Given the description of an element on the screen output the (x, y) to click on. 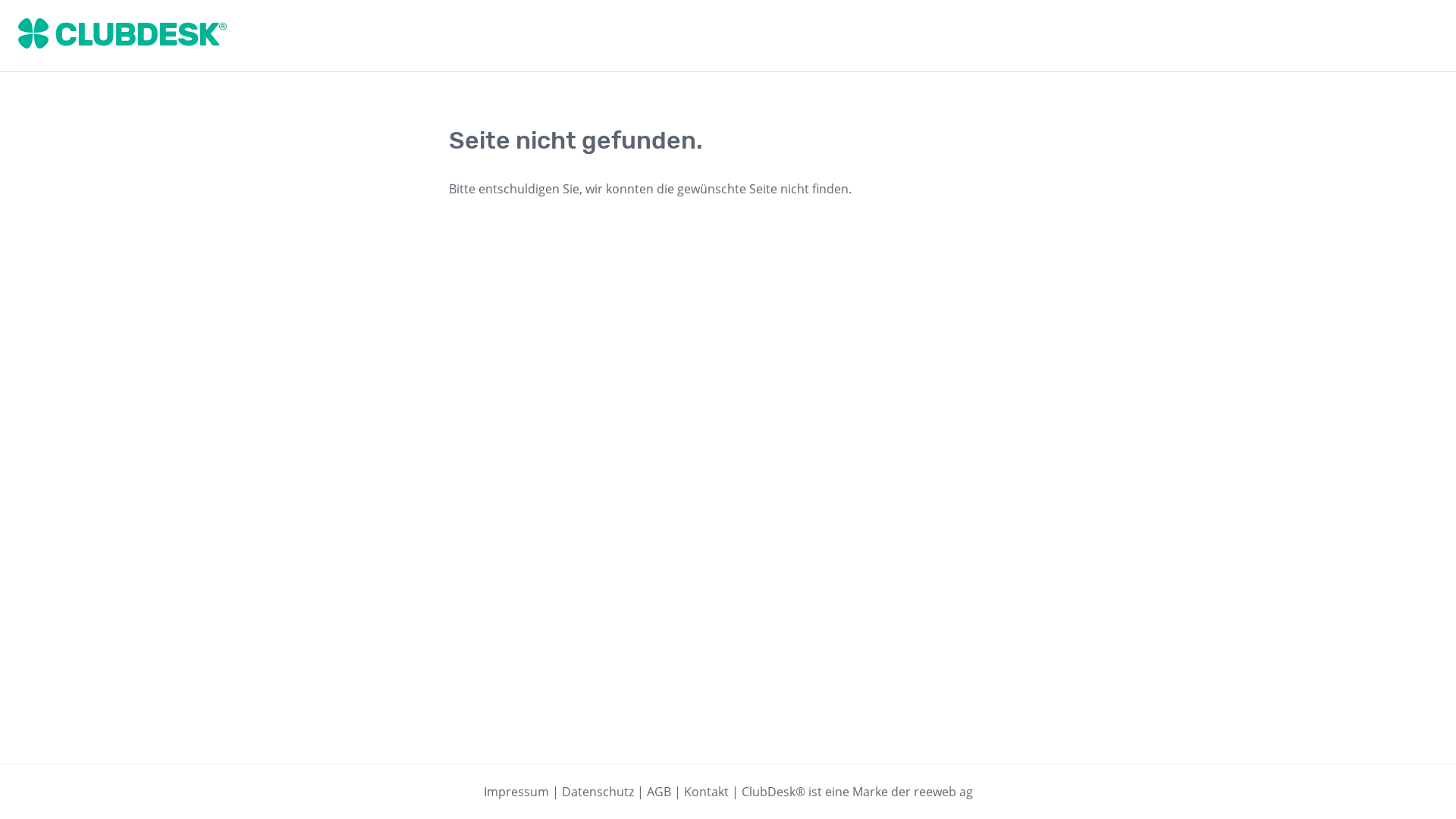
Kontakt Element type: text (706, 791)
AGB Element type: text (658, 791)
Impressum Element type: text (516, 791)
Datenschutz Element type: text (597, 791)
